Given the description of an element on the screen output the (x, y) to click on. 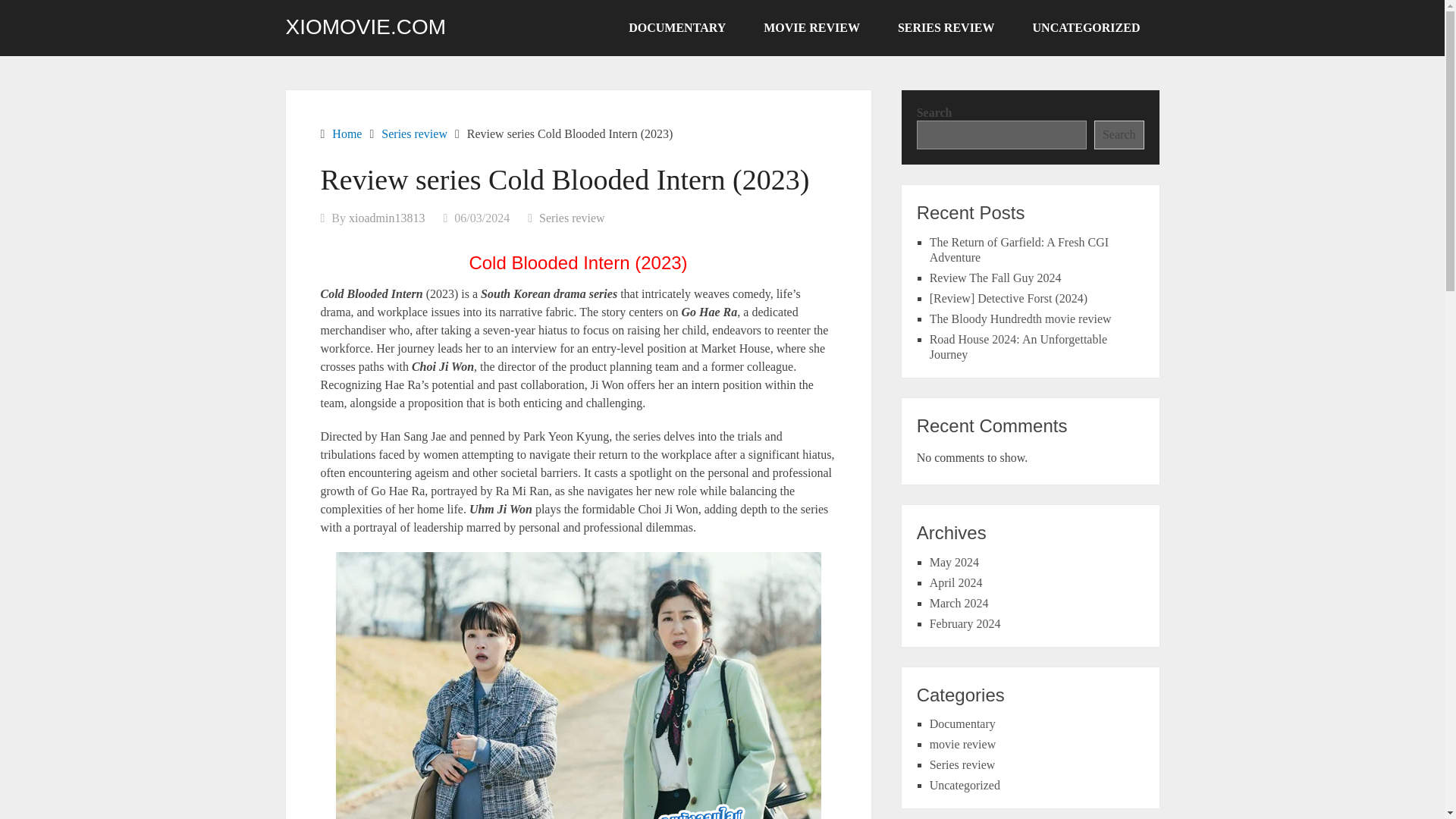
xioadmin13813 (387, 217)
Documentary (962, 723)
The Bloody Hundredth movie review (1021, 318)
UNCATEGORIZED (1085, 28)
Series review (413, 133)
DOCUMENTARY (677, 28)
Search (1119, 134)
SERIES REVIEW (946, 28)
Home (346, 133)
May 2024 (954, 562)
Series review (962, 764)
MOVIE REVIEW (811, 28)
April 2024 (956, 582)
The Return of Garfield: A Fresh CGI Adventure (1019, 249)
February 2024 (965, 623)
